Given the description of an element on the screen output the (x, y) to click on. 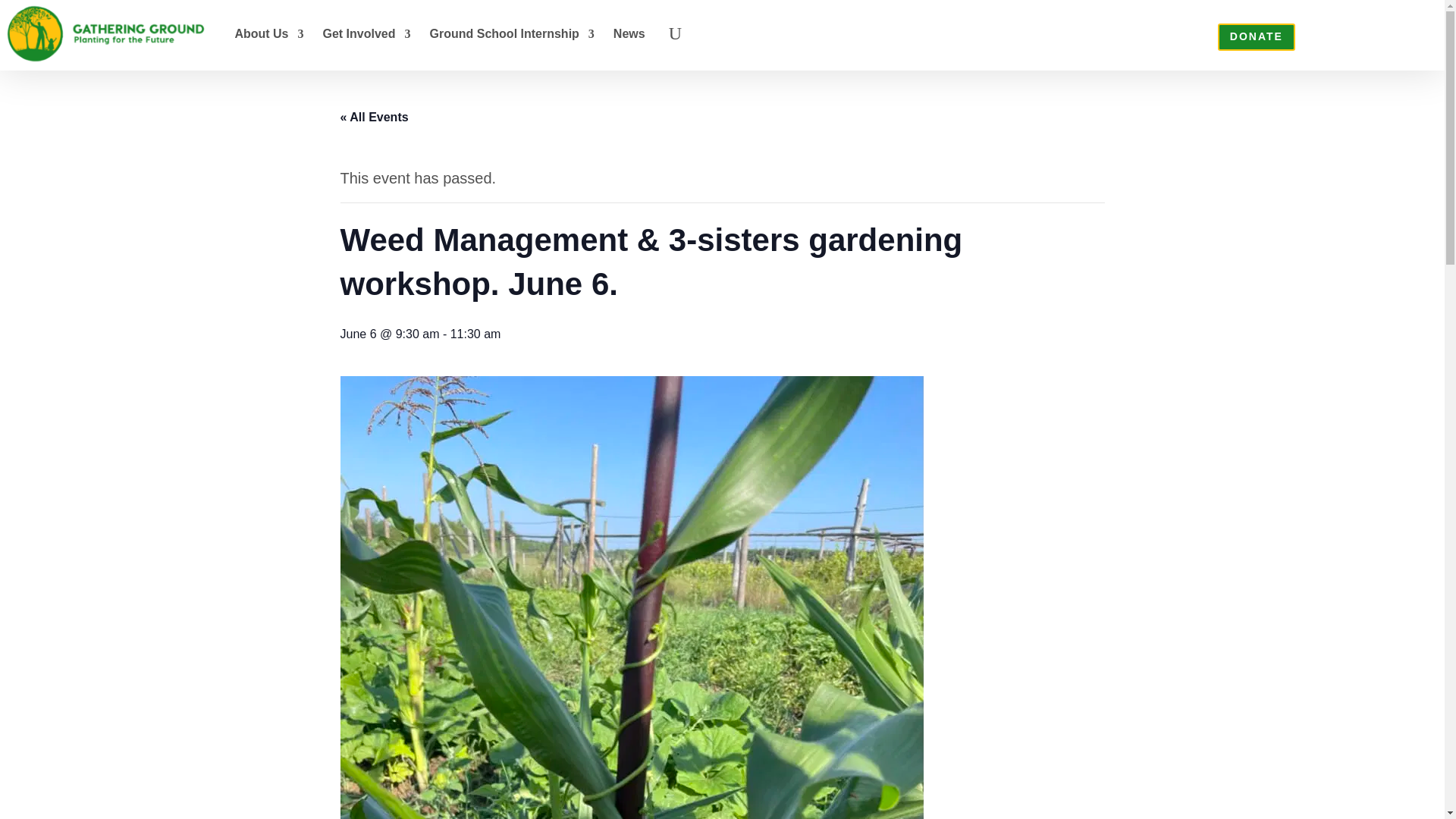
Ground School Internship (511, 33)
DONATE (1256, 36)
Get Involved (366, 33)
About Us (268, 33)
